Given the description of an element on the screen output the (x, y) to click on. 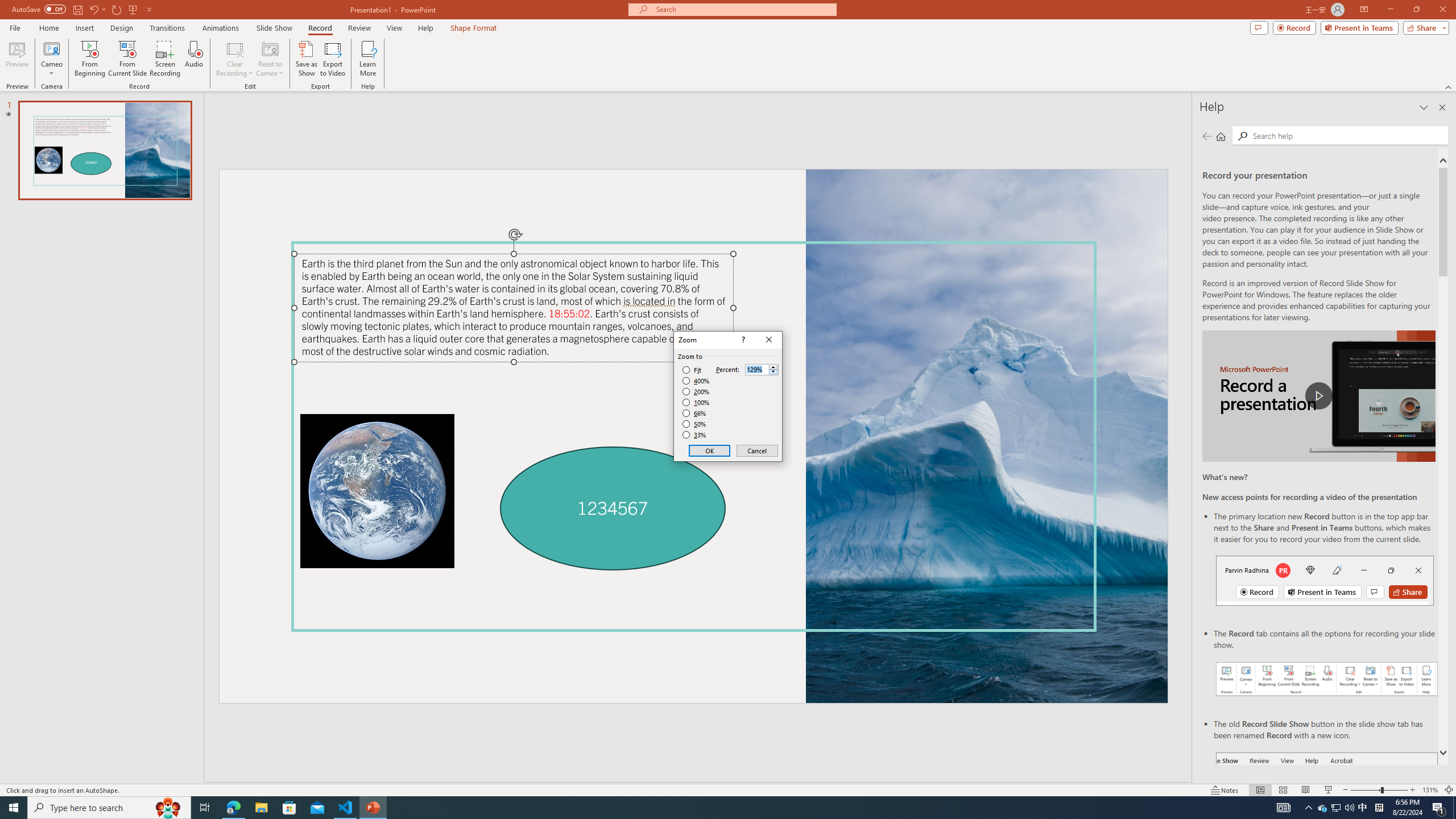
Previous page (1206, 136)
400% (696, 380)
Record button in top bar (1324, 580)
